Given the description of an element on the screen output the (x, y) to click on. 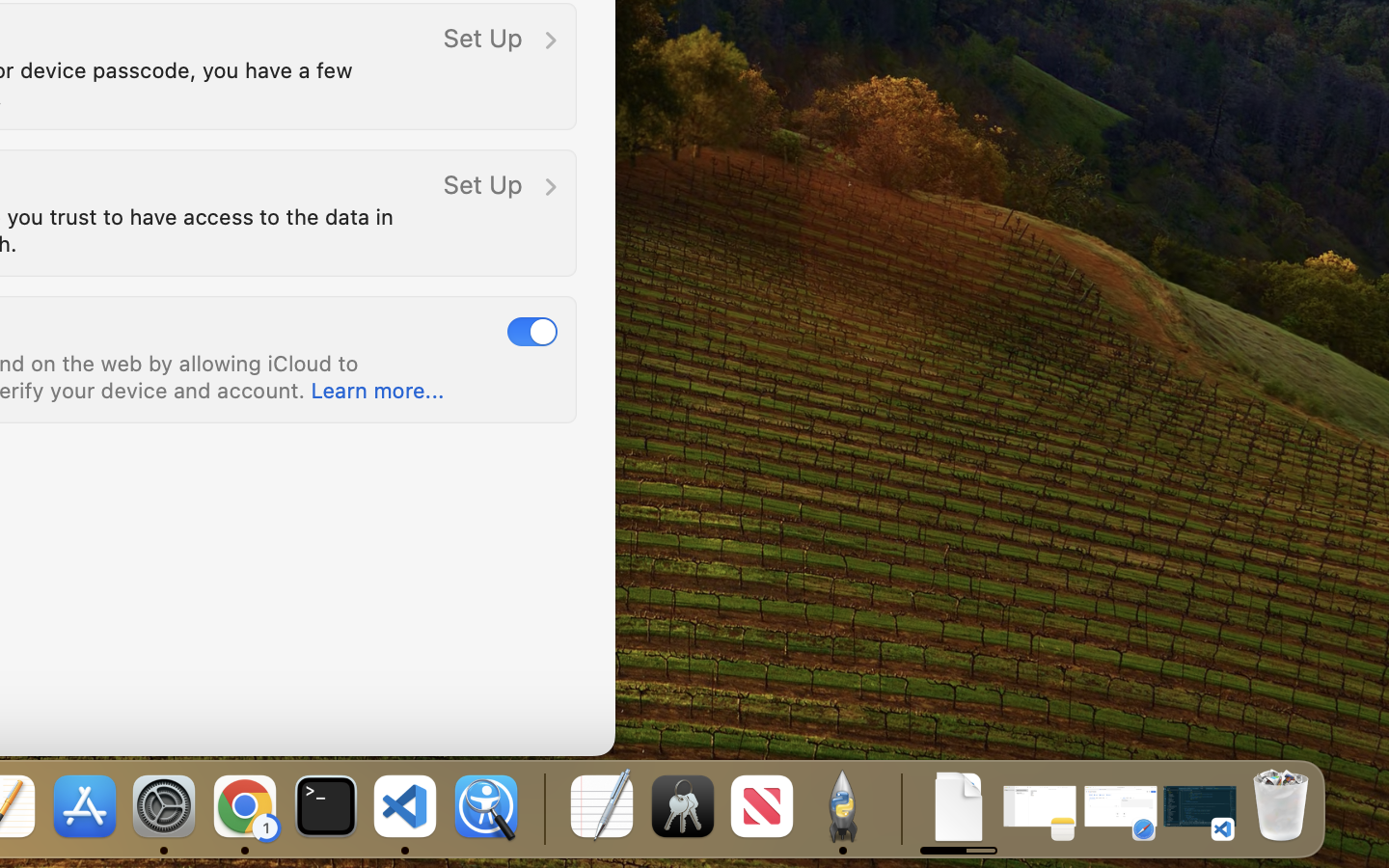
1 Element type: AXCheckBox (532, 330)
0.4285714328289032 Element type: AXDockItem (898, 807)
